Given the description of an element on the screen output the (x, y) to click on. 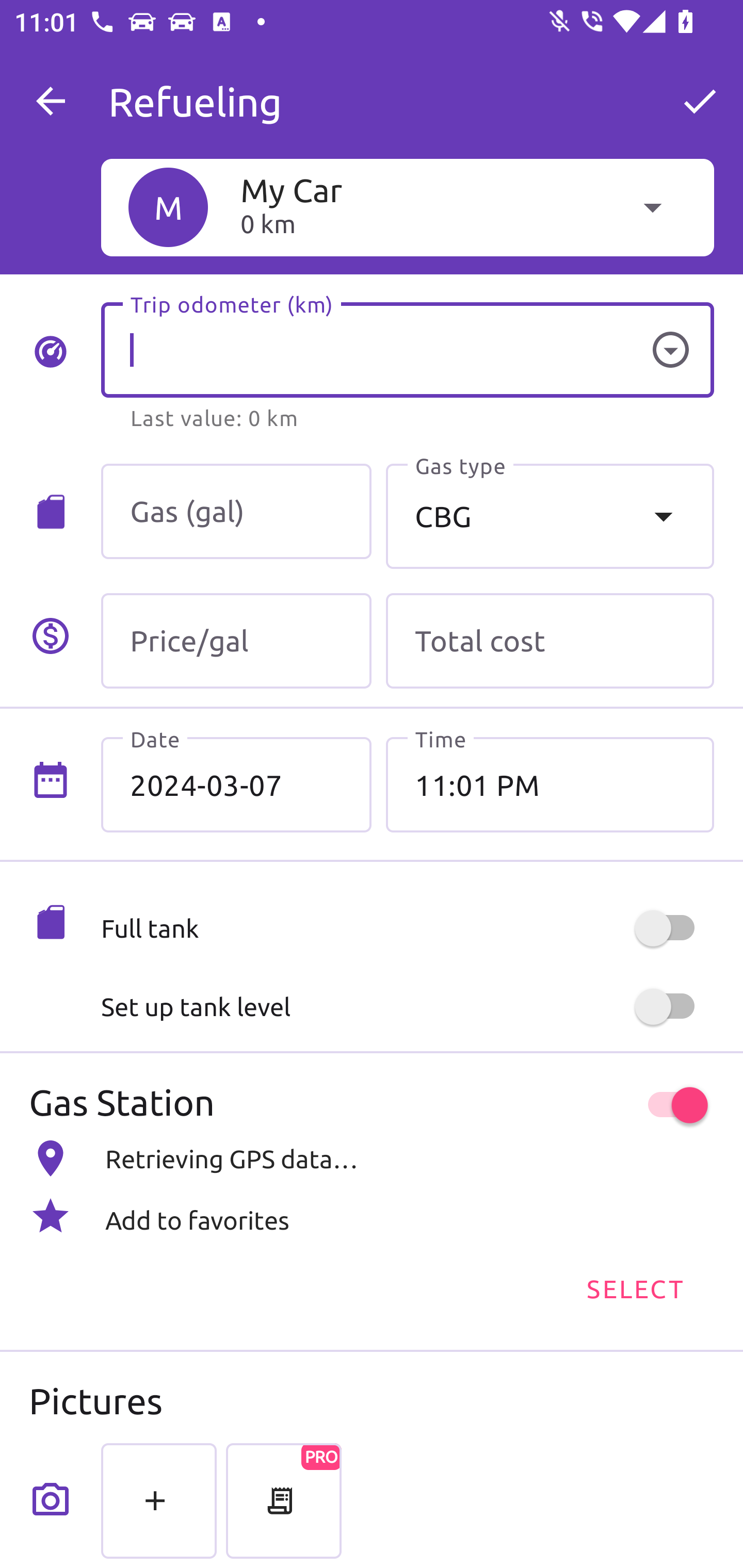
Navigate up (50, 101)
OK (699, 101)
M My Car 0 km (407, 206)
Trip odometer (km) (407, 350)
Odometer (670, 349)
Gas (gal) (236, 511)
CBG (549, 516)
Price/gal (236, 640)
Total cost  (549, 640)
2024-03-07 (236, 784)
11:01 PM (549, 784)
Full tank (407, 928)
Set up tank level (407, 1006)
Add to favorites (371, 1215)
SELECT (634, 1287)
